Given the description of an element on the screen output the (x, y) to click on. 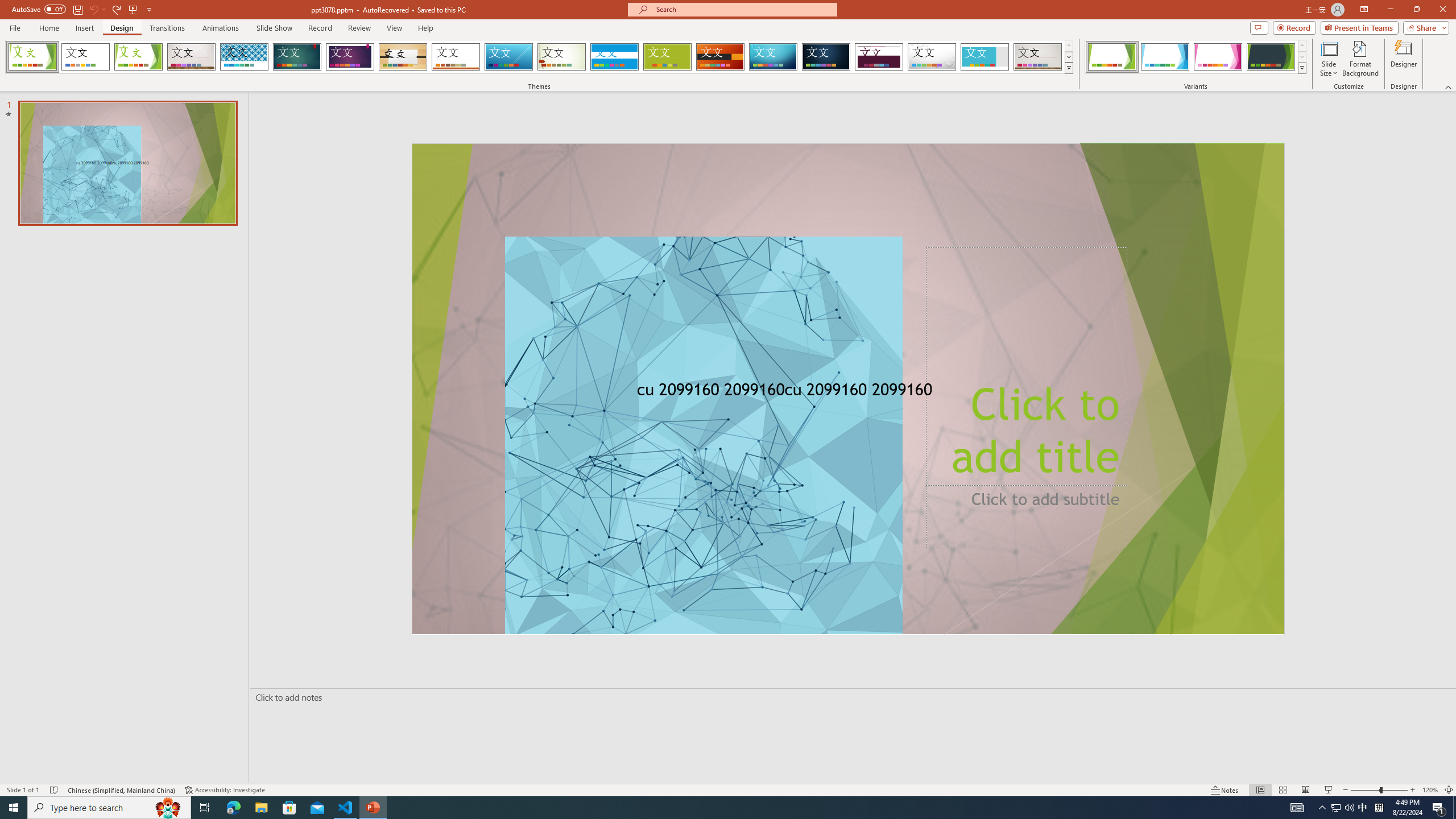
Integral Loading Preview... (244, 56)
Basis Loading Preview... (667, 56)
Facet Variant 4 (1270, 56)
Office Theme (85, 56)
